Given the description of an element on the screen output the (x, y) to click on. 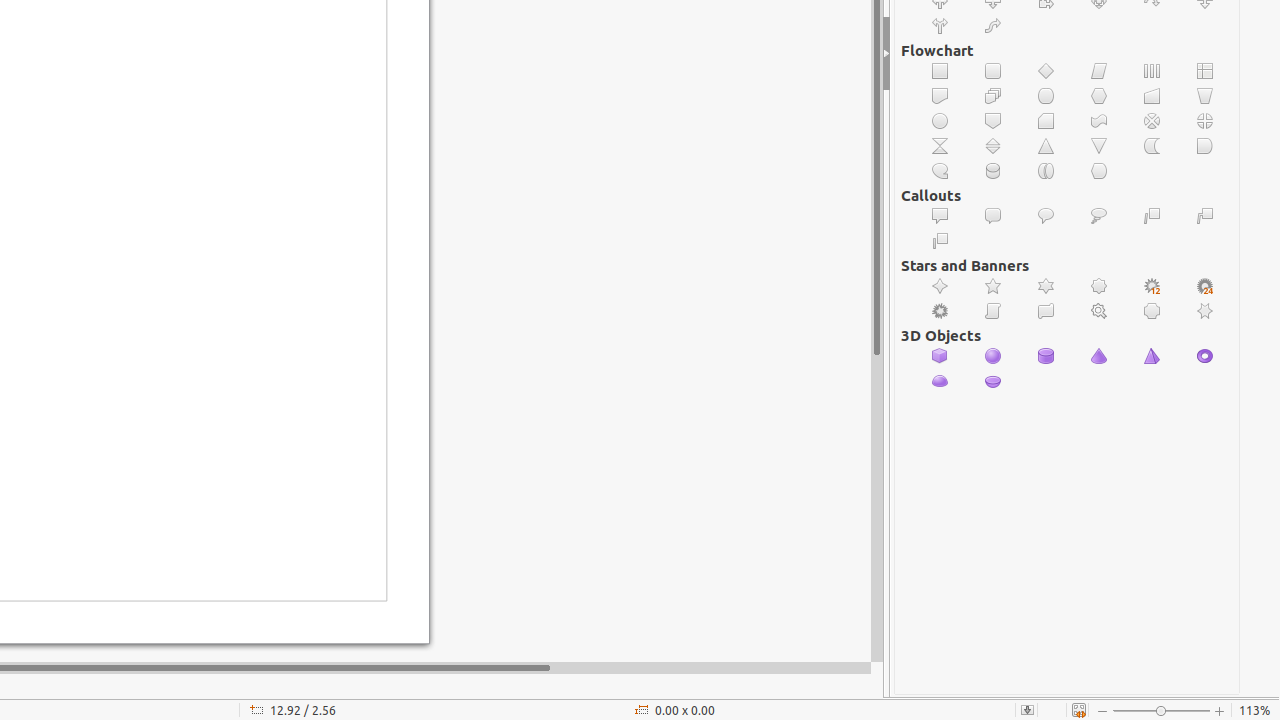
Rounded Rectangular Callout Element type: list-item (993, 216)
Pyramid Element type: list-item (1152, 356)
Line Callout 3 Element type: list-item (940, 241)
Flowchart: Process Element type: list-item (940, 71)
Flowchart: Punched Tape Element type: list-item (1099, 121)
